Given the description of an element on the screen output the (x, y) to click on. 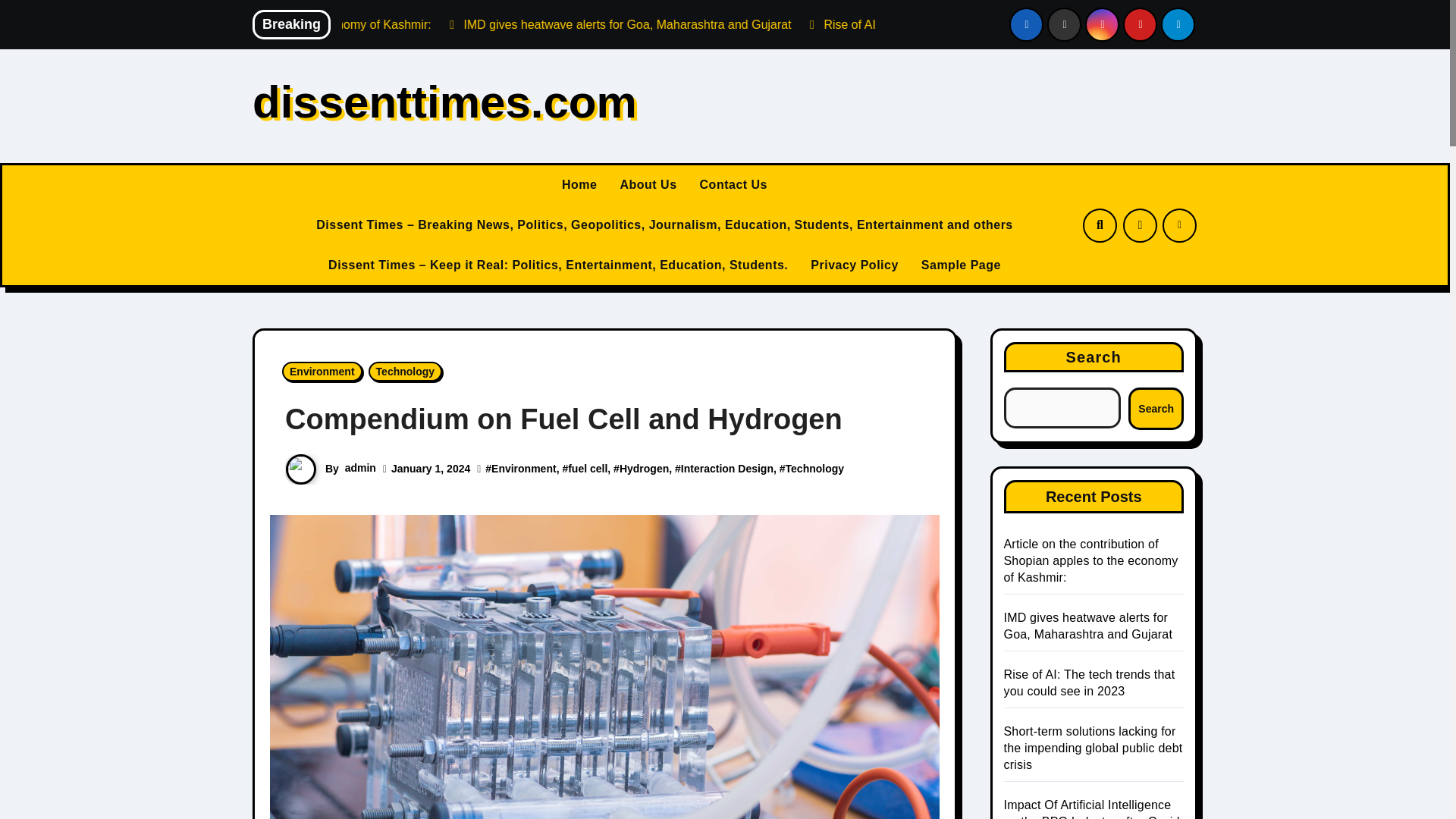
Environment (524, 468)
January 1, 2024 (430, 468)
Technology (815, 468)
Home (579, 185)
Home (579, 185)
IMD gives heatwave alerts for Goa, Maharashtra and Gujarat (841, 24)
Interaction Design (727, 468)
Environment (322, 371)
Technology (405, 371)
dissenttimes.com (444, 101)
